Given the description of an element on the screen output the (x, y) to click on. 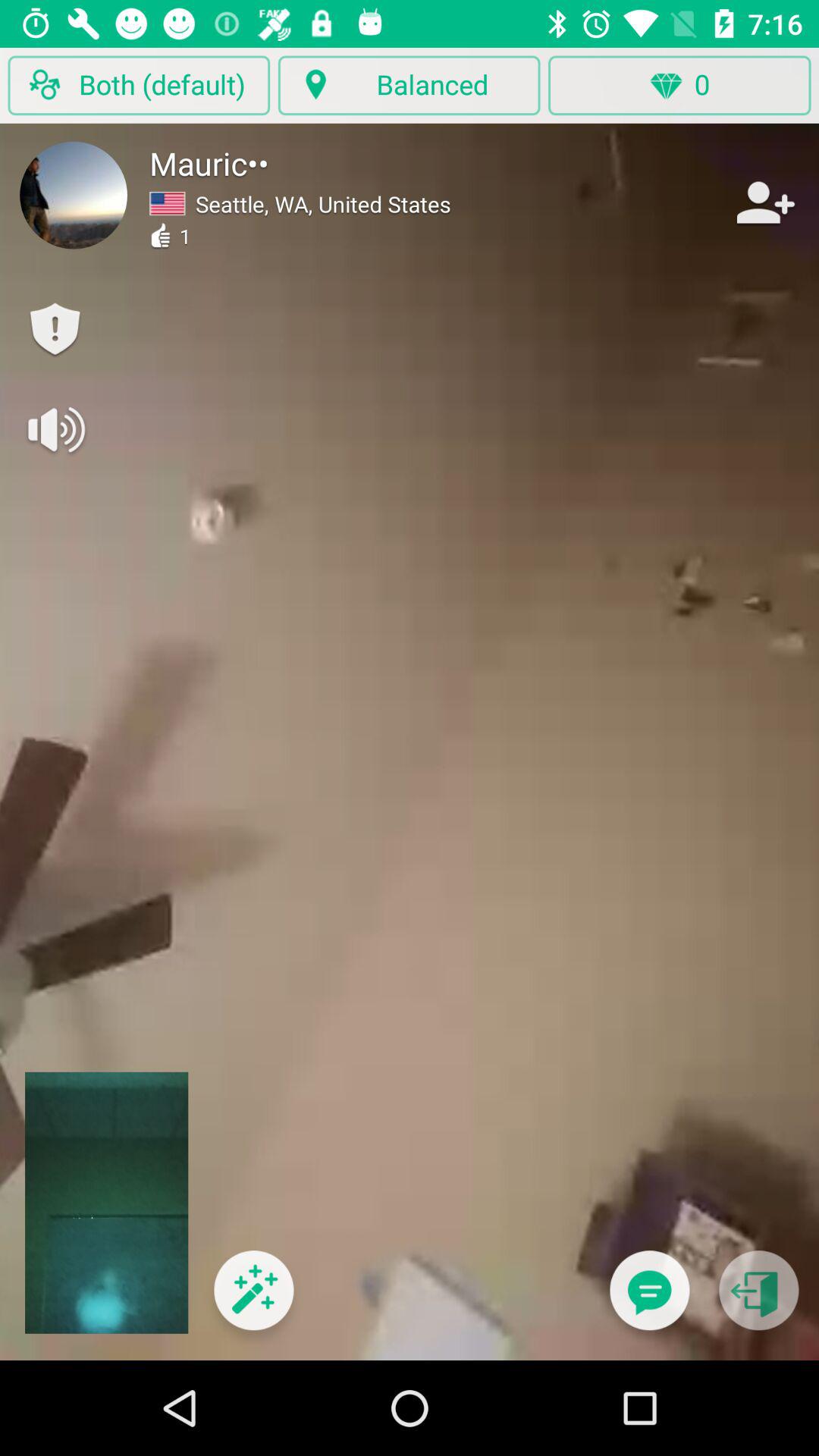
shows editing icon in camera (253, 1300)
